Given the description of an element on the screen output the (x, y) to click on. 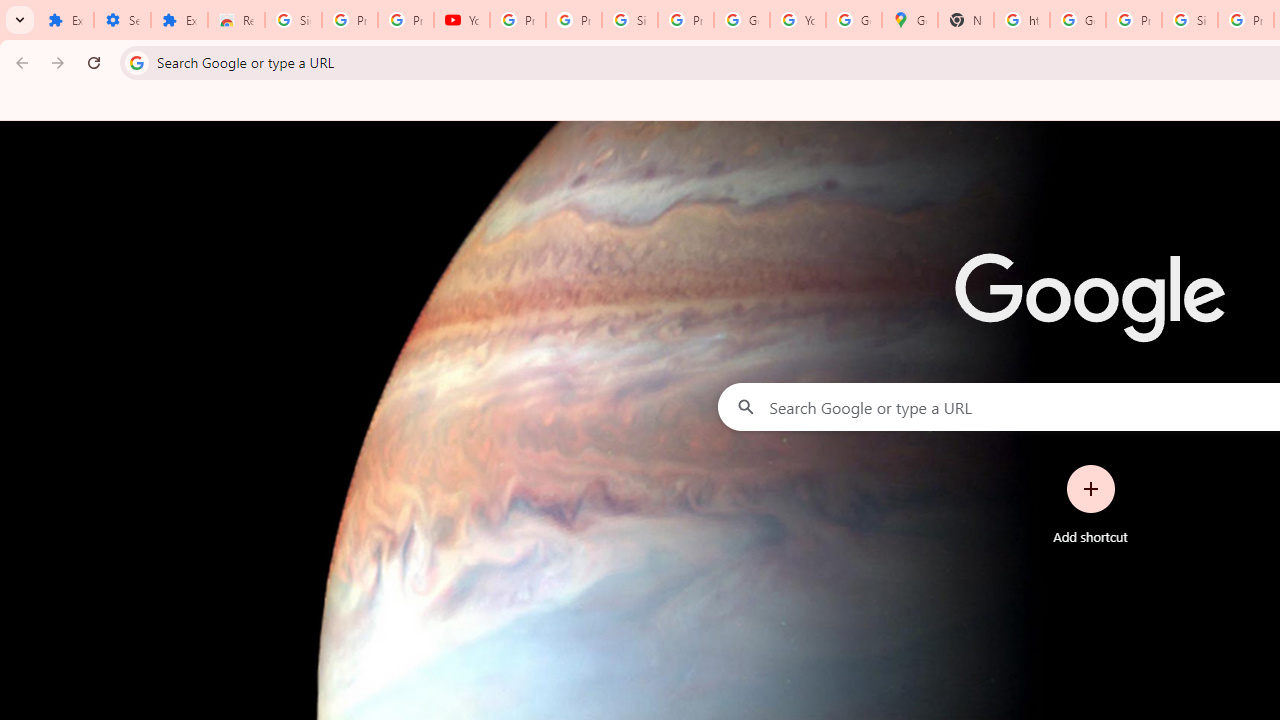
Extensions (65, 20)
YouTube (797, 20)
Add shortcut (1090, 504)
Search icon (136, 62)
Reviews: Helix Fruit Jump Arcade Game (235, 20)
Settings (122, 20)
YouTube (461, 20)
Sign in - Google Accounts (293, 20)
Google Maps (909, 20)
Extensions (179, 20)
